Given the description of an element on the screen output the (x, y) to click on. 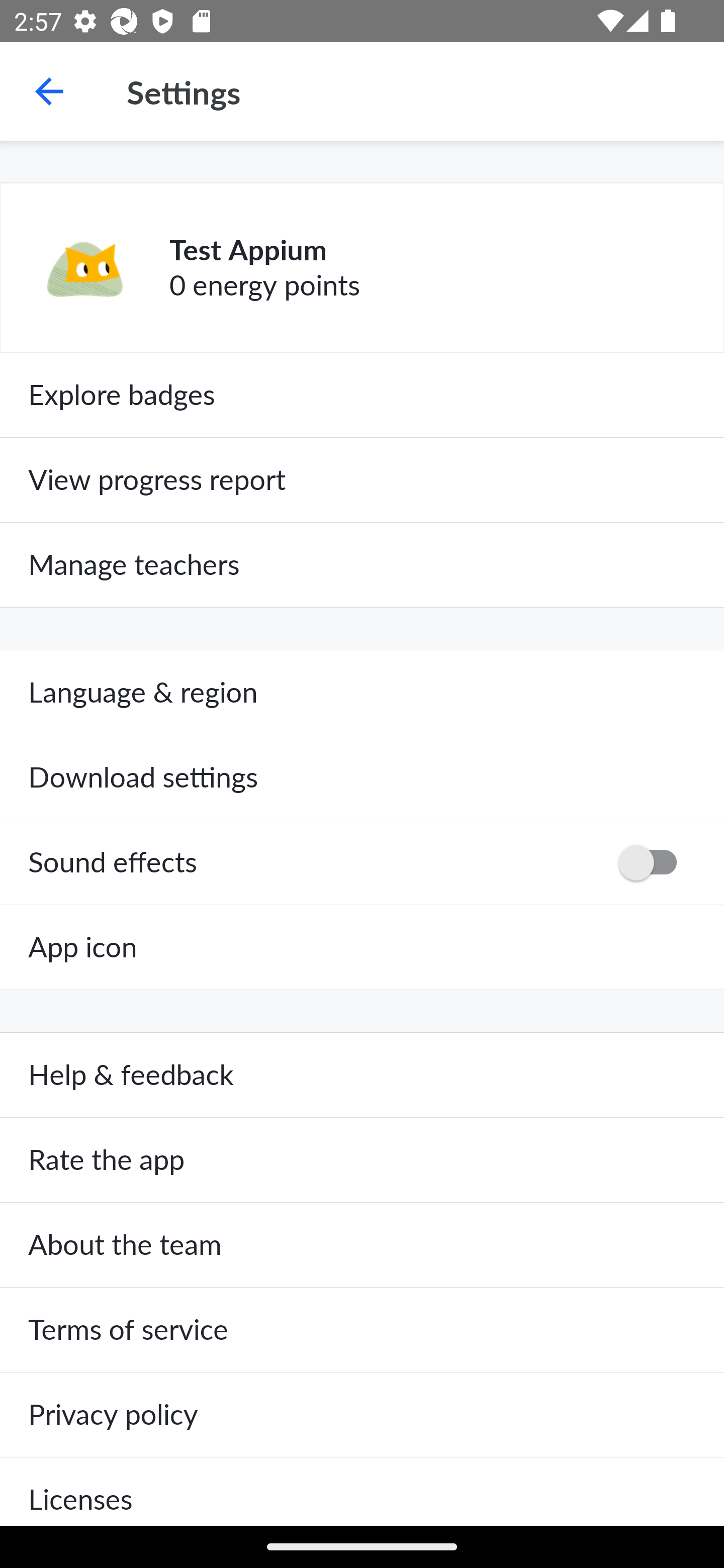
Navigate up (49, 91)
Explore badges (362, 394)
View progress report (362, 479)
Manage teachers (362, 565)
Language & region (362, 692)
Download settings (362, 777)
OFF (653, 861)
App icon (362, 946)
Help & feedback (362, 1075)
Rate the app (362, 1159)
About the team (362, 1244)
Terms of service (362, 1329)
Privacy policy (362, 1414)
Licenses (362, 1490)
